Given the description of an element on the screen output the (x, y) to click on. 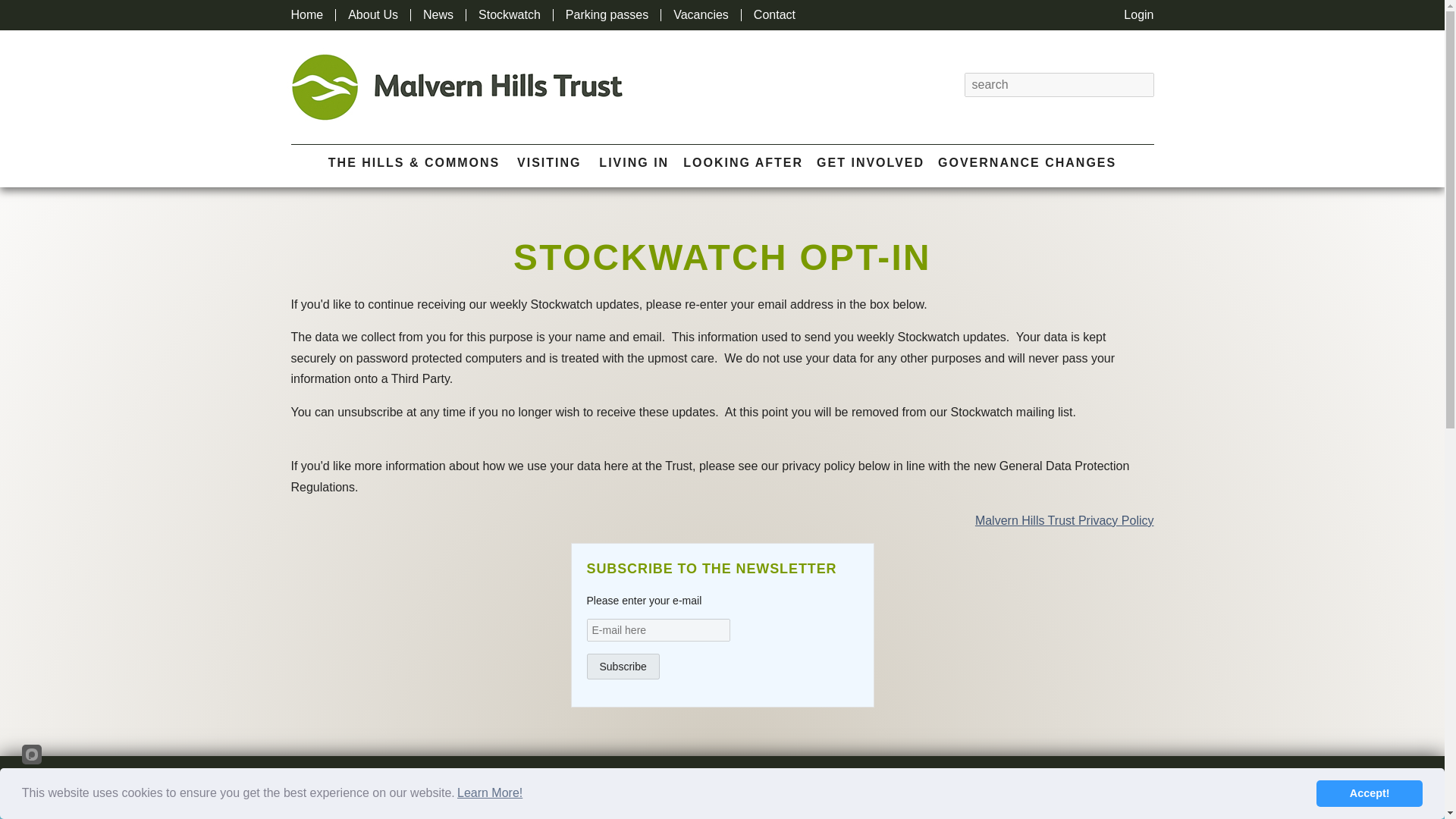
seach (1141, 84)
Subscribe (622, 666)
LIVING IN (633, 162)
News (437, 15)
VISITING (548, 162)
Vacancies (700, 15)
Signup to our Newsletter (1040, 21)
Login (1138, 15)
Home (307, 15)
Privacy Policy Sept 2023 (1064, 520)
Parking passes (606, 15)
About Us (372, 15)
Stockwatch (509, 15)
Contact (774, 15)
Follow us on Twitter (1096, 13)
